Given the description of an element on the screen output the (x, y) to click on. 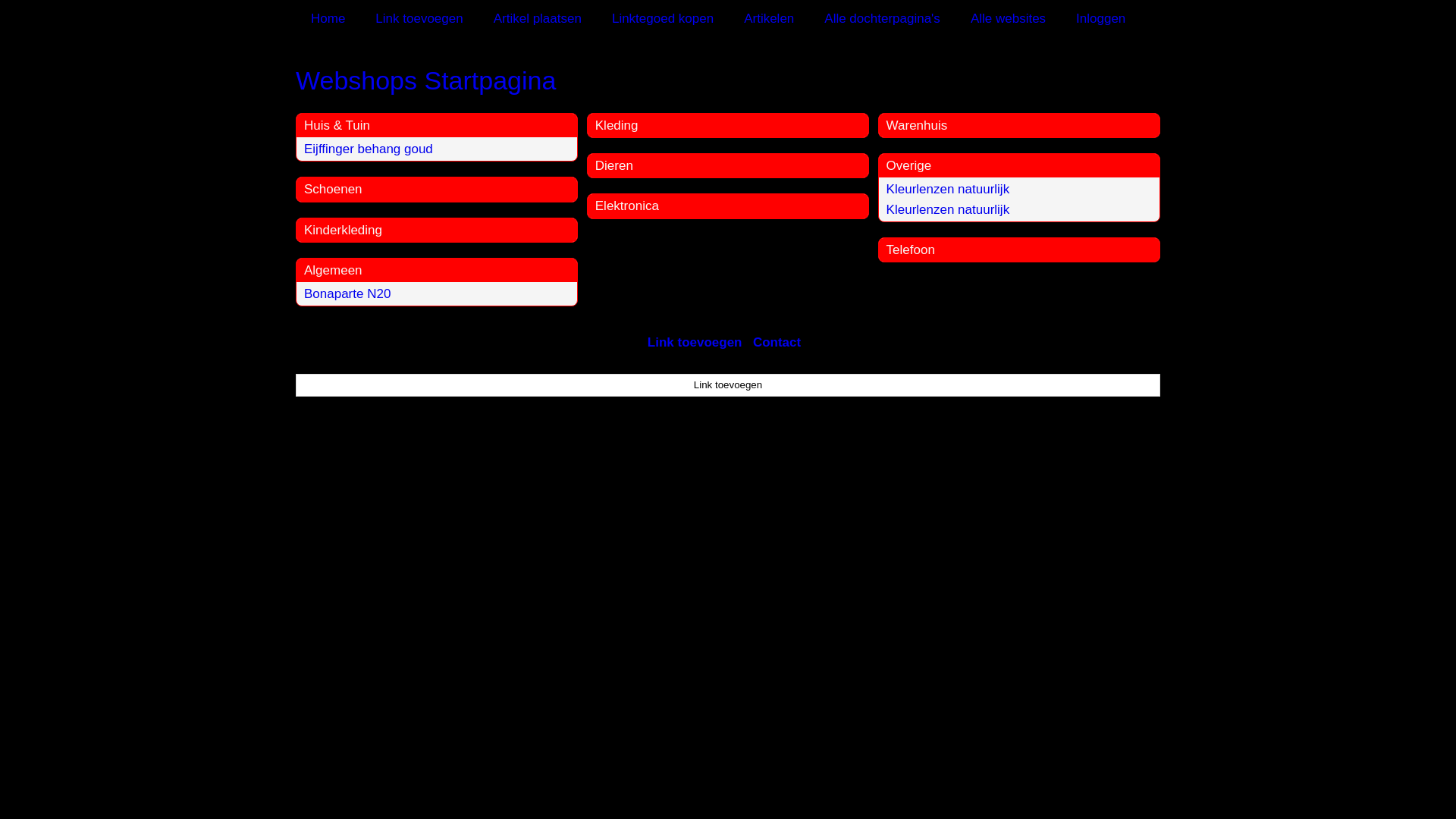
Kleurlenzen natuurlijk Element type: text (948, 189)
Link toevoegen Element type: text (727, 384)
Inloggen Element type: text (1100, 18)
Overige Element type: text (908, 165)
Dieren Element type: text (614, 165)
Telefoon Element type: text (910, 249)
Artikelen Element type: text (768, 18)
Kleding Element type: text (616, 125)
Kleurlenzen natuurlijk Element type: text (948, 209)
Schoenen Element type: text (333, 189)
Alle dochterpagina's Element type: text (882, 18)
Eijffinger behang goud Element type: text (368, 148)
Linktegoed kopen Element type: text (662, 18)
Link toevoegen Element type: text (418, 18)
Algemeen Element type: text (333, 270)
Huis & Tuin Element type: text (337, 125)
BaakmanMedia Element type: text (748, 462)
Kinderkleding Element type: text (343, 229)
Bonaparte N20 Element type: text (347, 293)
Webshops Startpagina Element type: text (727, 80)
Vrolijk Internet Services Element type: text (876, 462)
Artikel plaatsen Element type: text (537, 18)
Elektronica Element type: text (626, 205)
Contact Element type: text (776, 342)
Warenhuis Element type: text (916, 125)
Home Element type: text (327, 18)
Link toevoegen Element type: text (694, 342)
Alle websites Element type: text (1007, 18)
